Given the description of an element on the screen output the (x, y) to click on. 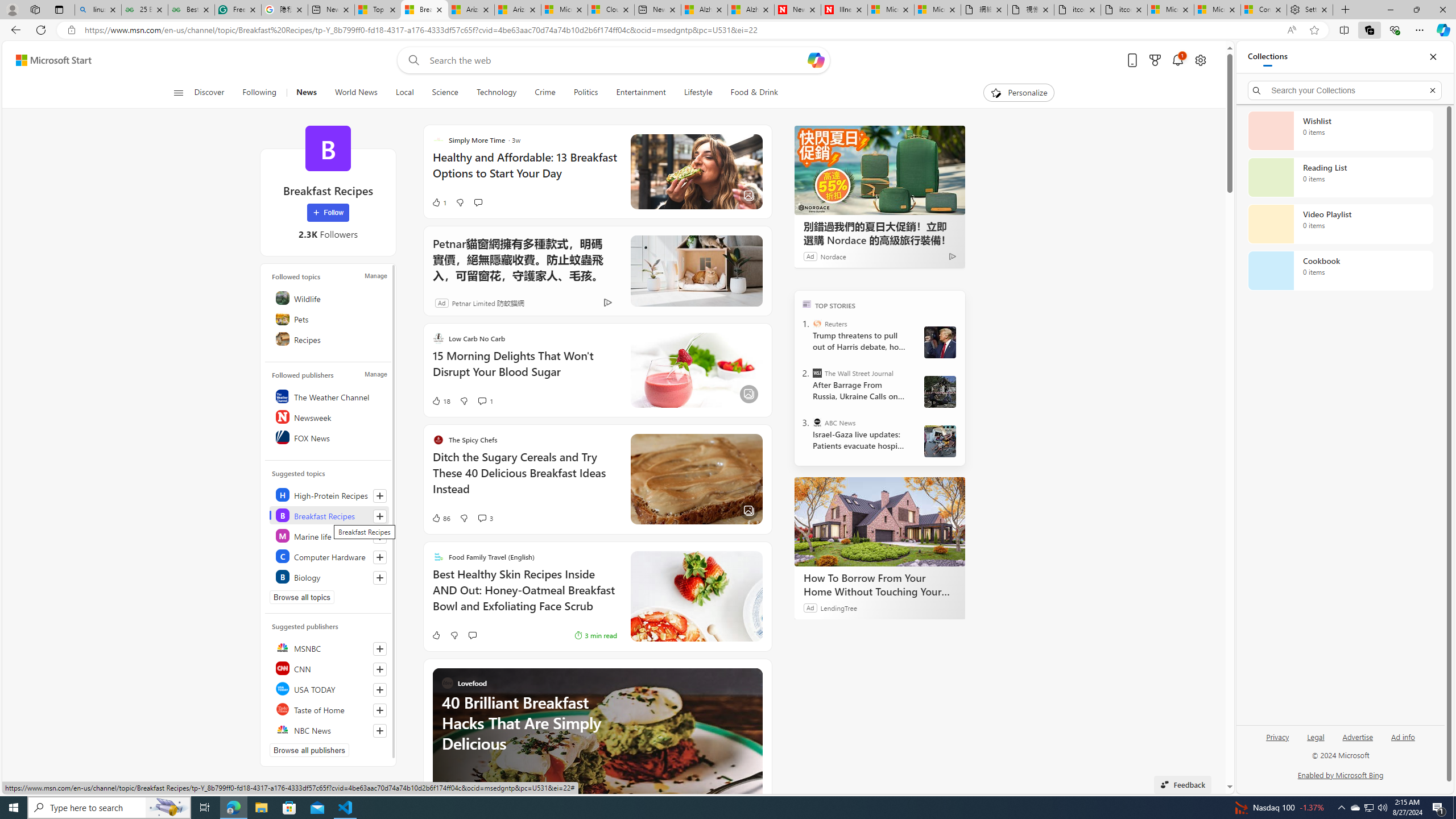
Reading List collection, 0 items (1339, 177)
Enter your search term (617, 59)
FOX News (328, 437)
Follow this source (379, 730)
The Wall Street Journal (816, 372)
Crime (544, 92)
